Given the description of an element on the screen output the (x, y) to click on. 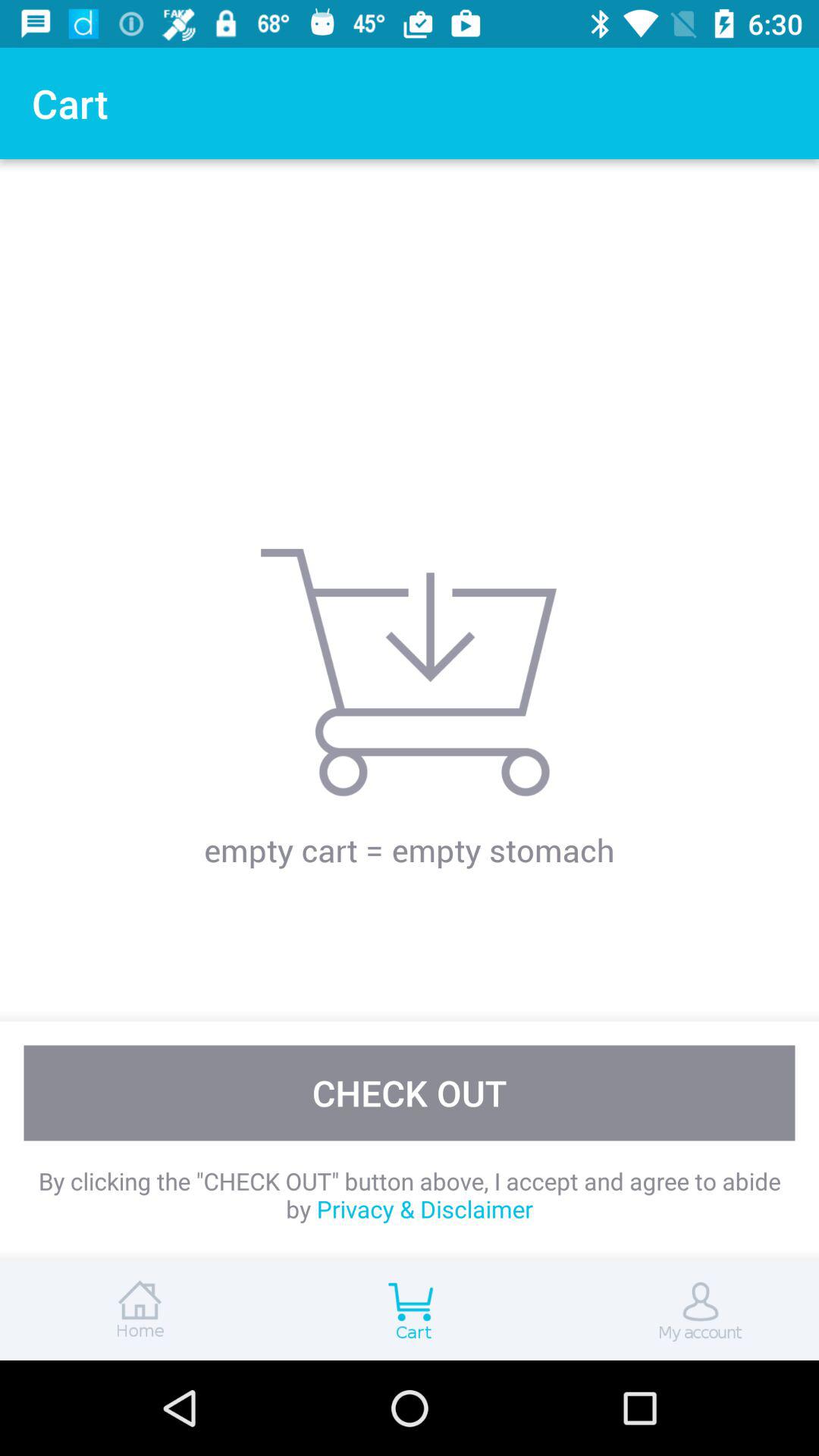
account option (682, 1310)
